Given the description of an element on the screen output the (x, y) to click on. 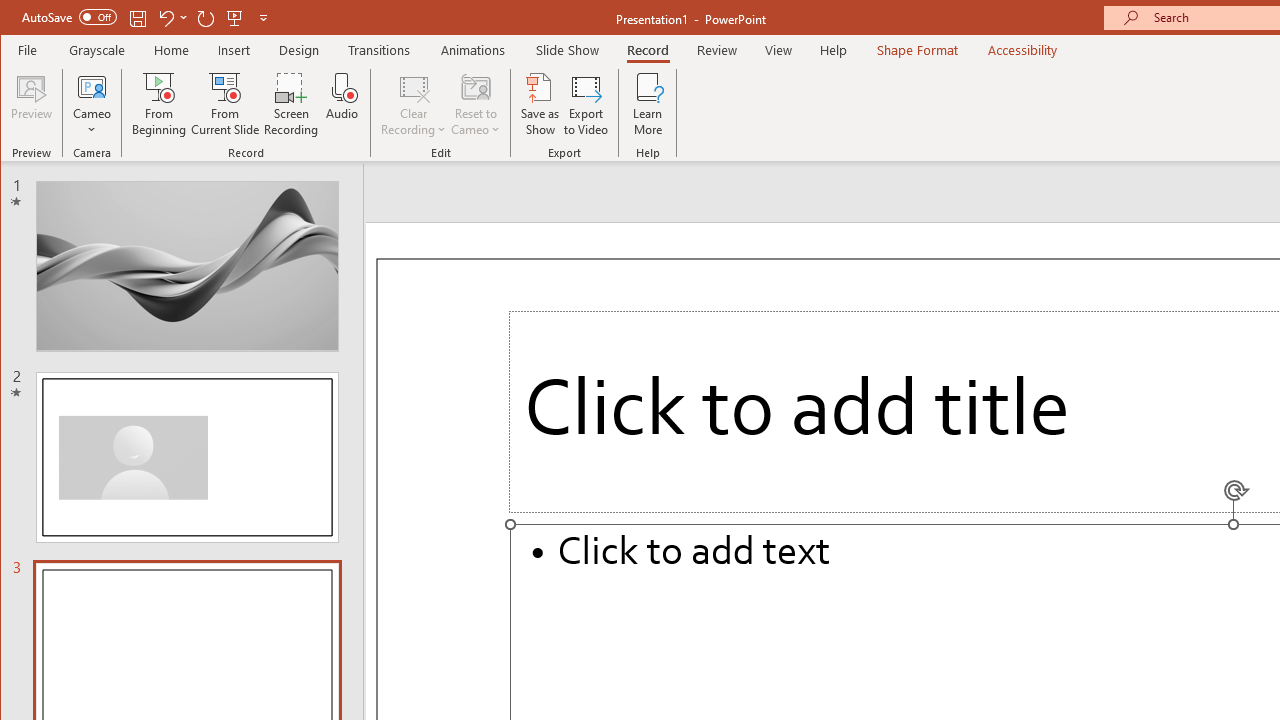
More Options (91, 123)
Reset to Cameo (476, 104)
Preview (31, 104)
Cameo (91, 86)
From Beginning (235, 17)
File Tab (28, 49)
Home (171, 50)
Customize Quick Access Toolbar (263, 17)
Audio (342, 104)
Review (717, 50)
Design (299, 50)
Clear Recording (413, 104)
Grayscale (97, 50)
Help (833, 50)
Export to Video (585, 104)
